Given the description of an element on the screen output the (x, y) to click on. 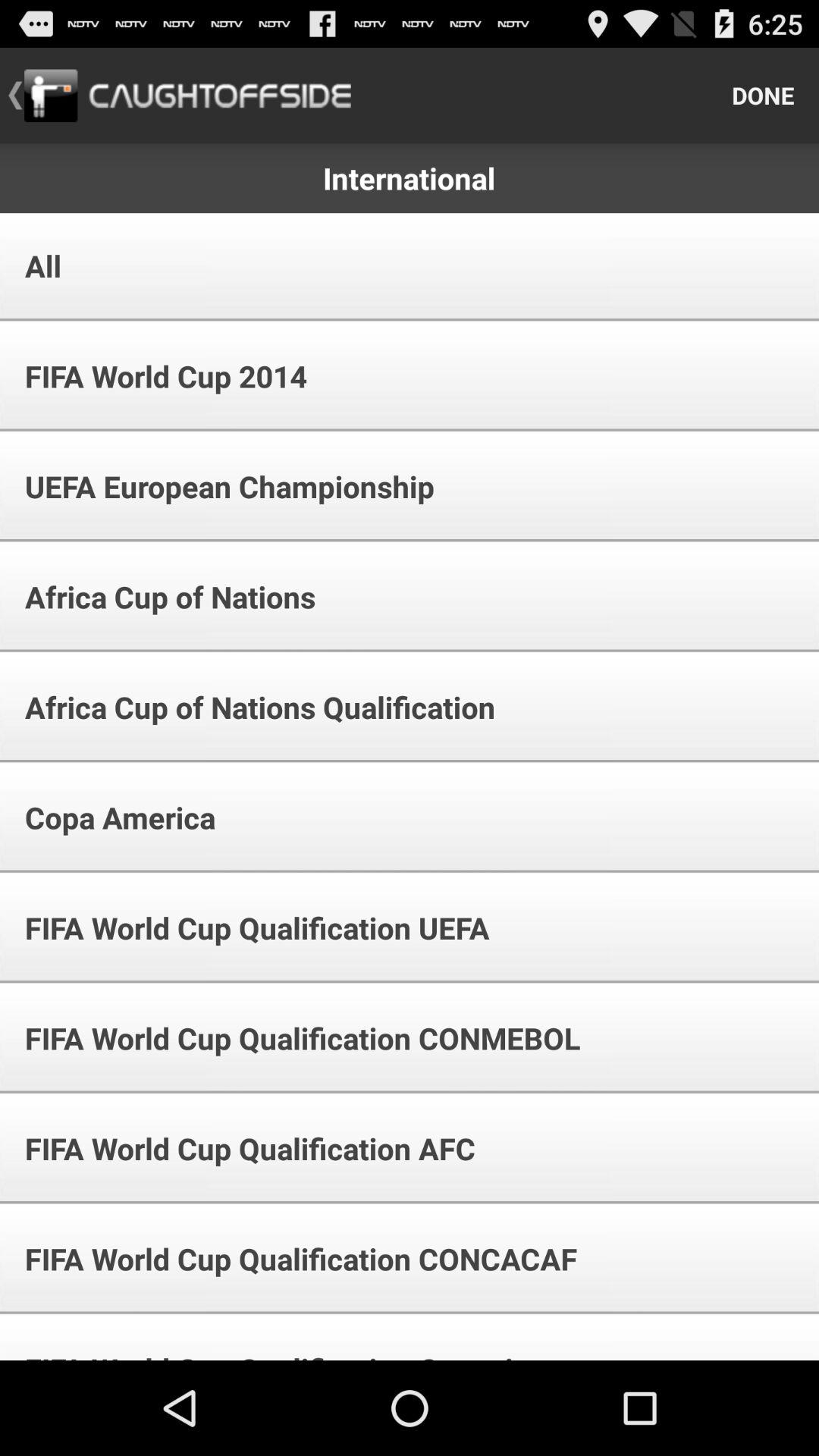
choose the icon below africa cup of item (110, 817)
